Given the description of an element on the screen output the (x, y) to click on. 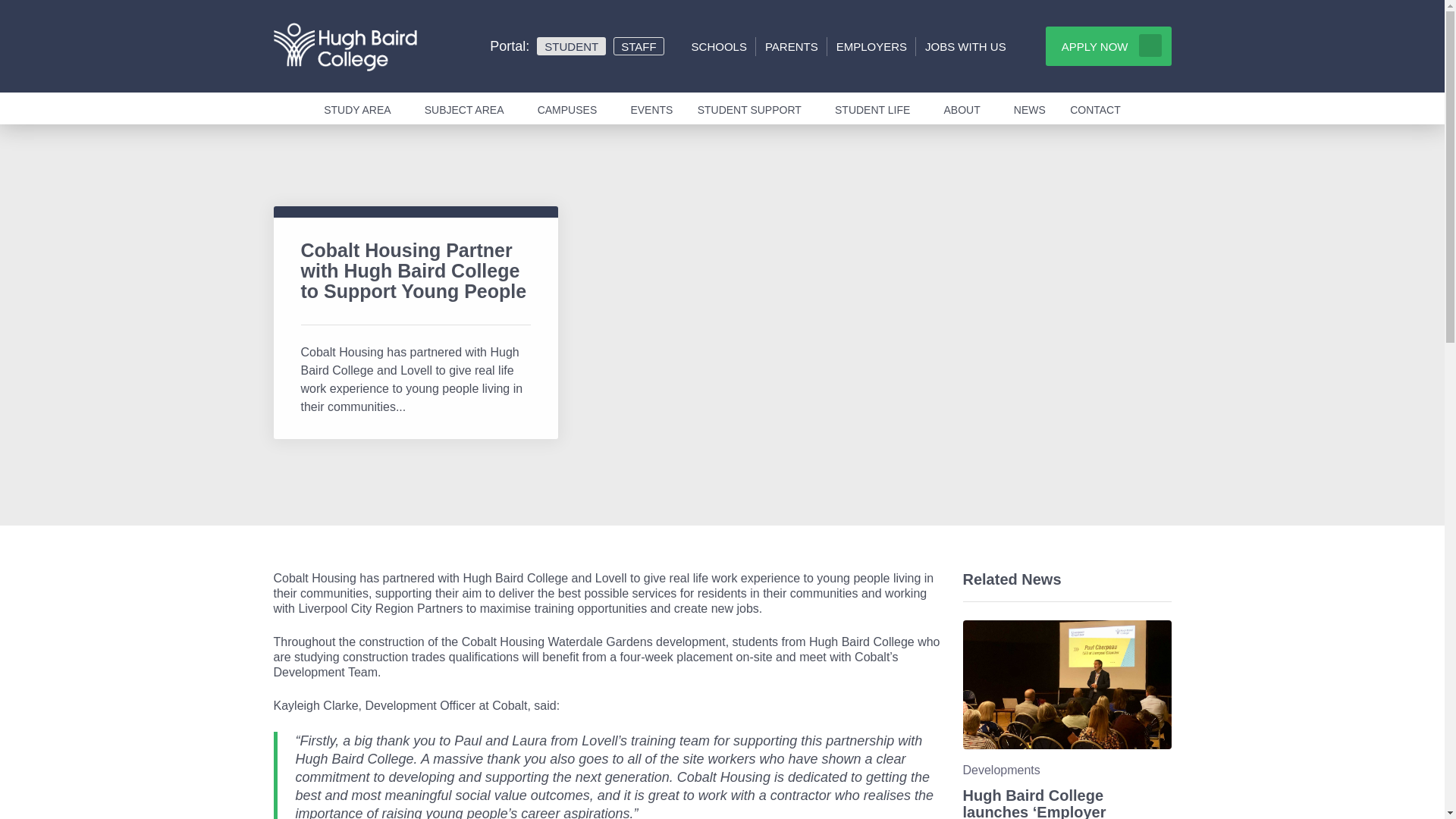
STAFF (637, 45)
JOBS WITH US (965, 46)
PARENTS (791, 46)
SCHOOLS (718, 46)
EMPLOYERS (871, 46)
STUDY AREA (360, 108)
STUDENT (571, 45)
